Given the description of an element on the screen output the (x, y) to click on. 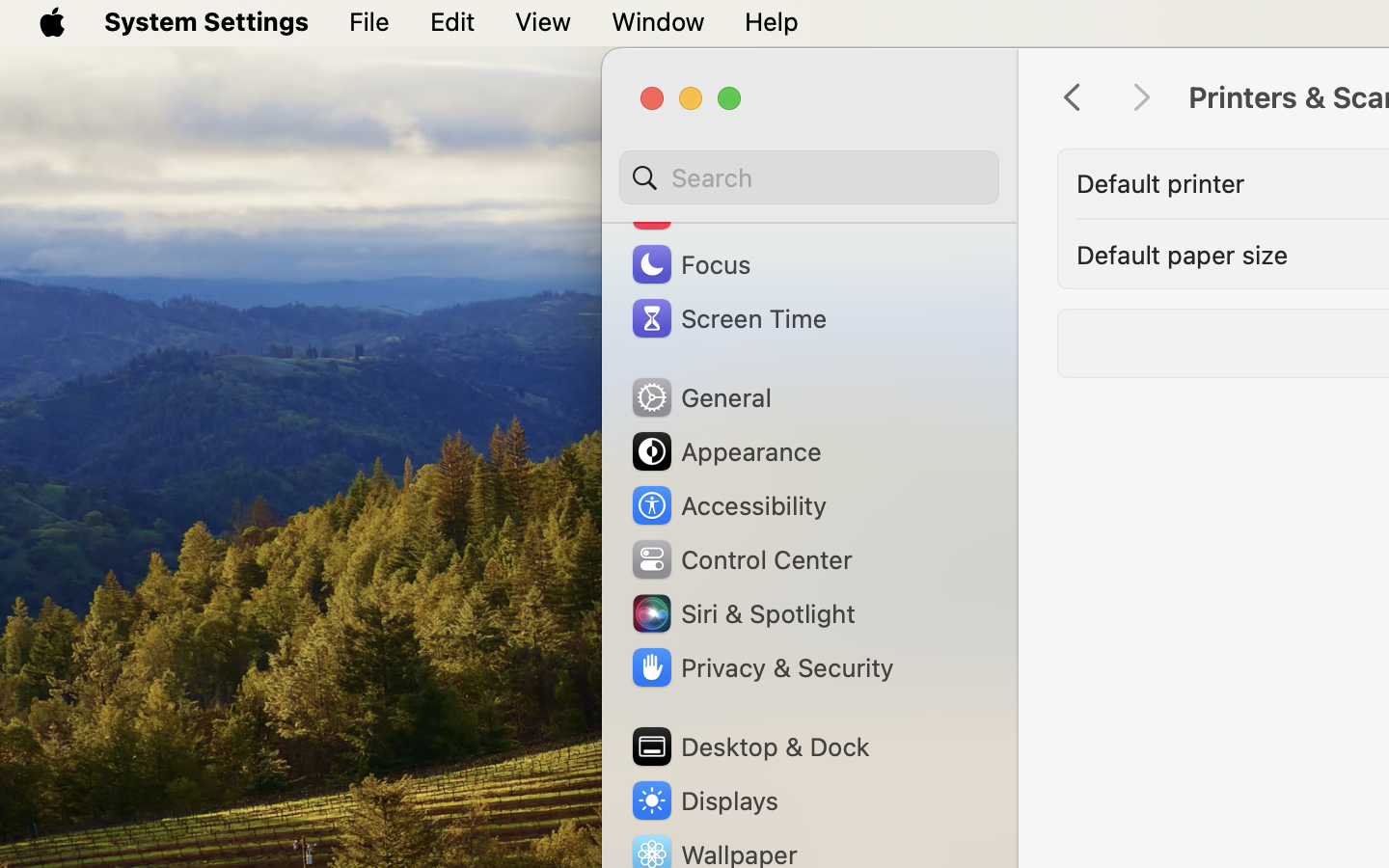
Appearance Element type: AXStaticText (724, 451)
Default paper size Element type: AXStaticText (1182, 254)
Siri & Spotlight Element type: AXStaticText (741, 613)
